Given the description of an element on the screen output the (x, y) to click on. 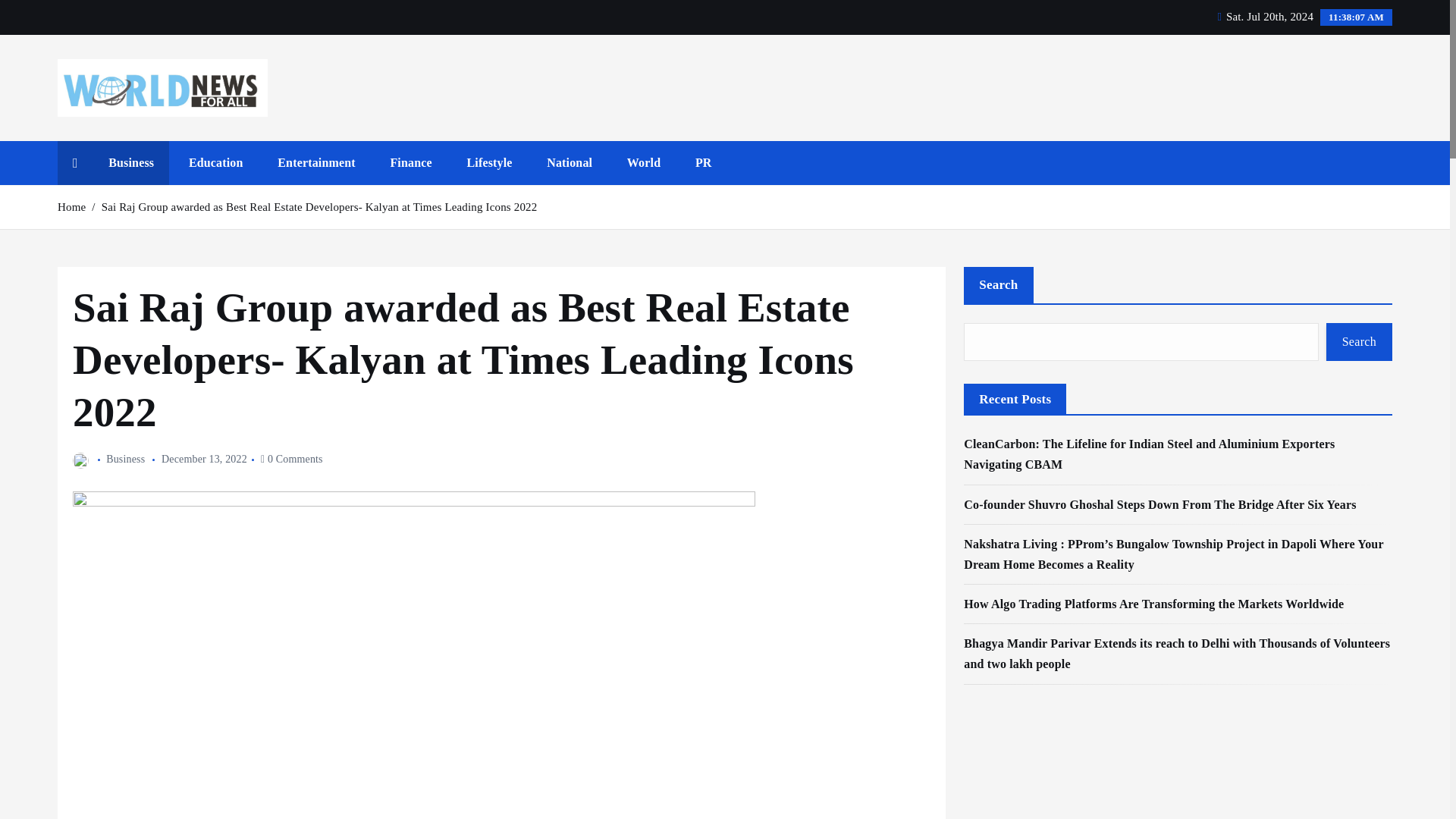
PR (702, 162)
Finance (410, 162)
Entertainment (316, 162)
Entertainment (316, 162)
World (643, 162)
Lifestyle (489, 162)
Lifestyle (489, 162)
Education (216, 162)
PR (702, 162)
Business (130, 162)
Finance (410, 162)
National (569, 162)
World (643, 162)
Education (216, 162)
National (569, 162)
